Given the description of an element on the screen output the (x, y) to click on. 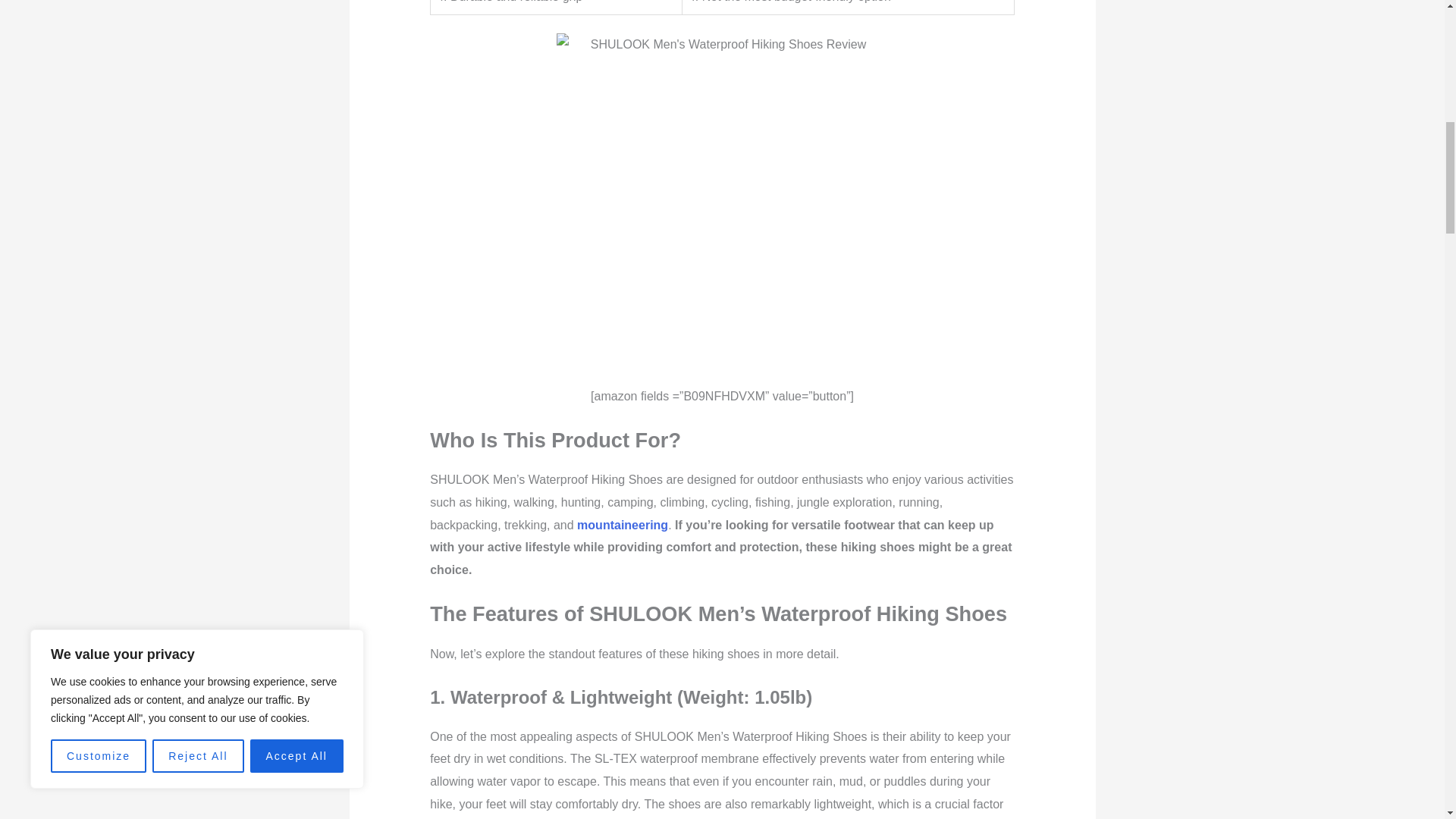
mountaineering (622, 524)
